Given the description of an element on the screen output the (x, y) to click on. 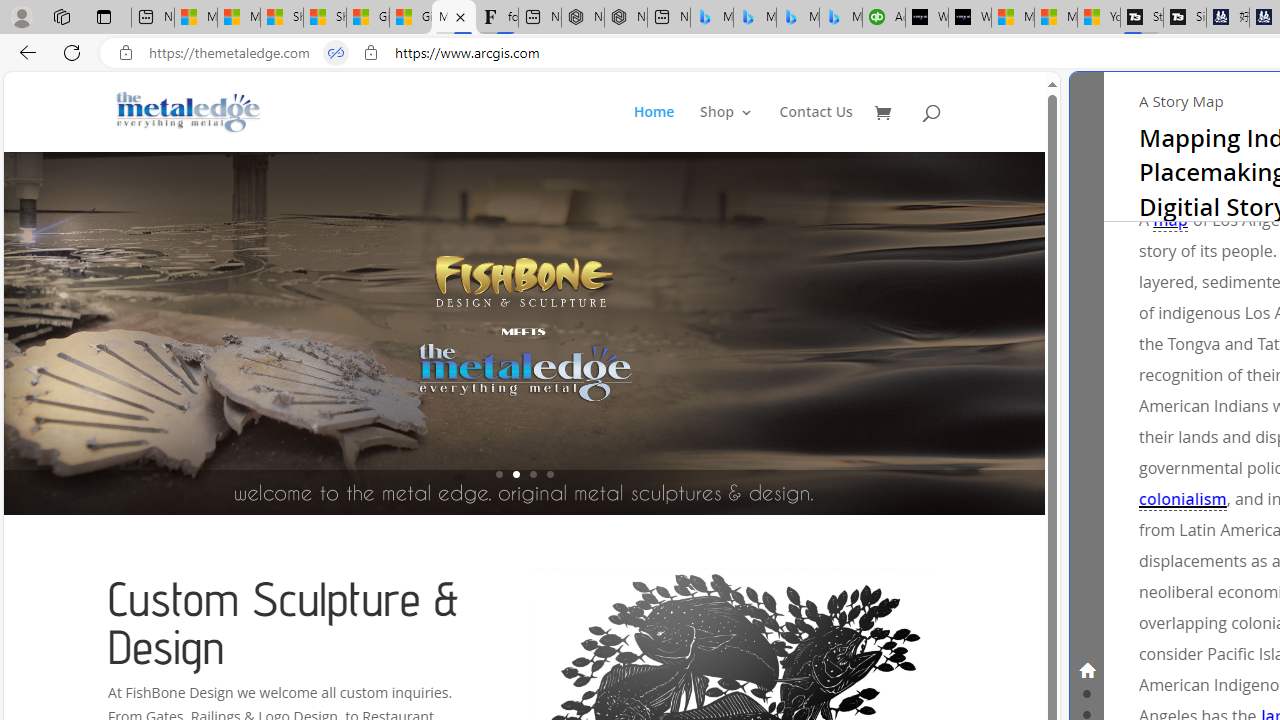
2 (515, 474)
Metal Fish Sculptures & Metal Designs (189, 111)
map (1170, 220)
5 (1042, 332)
1 (499, 474)
